Given the description of an element on the screen output the (x, y) to click on. 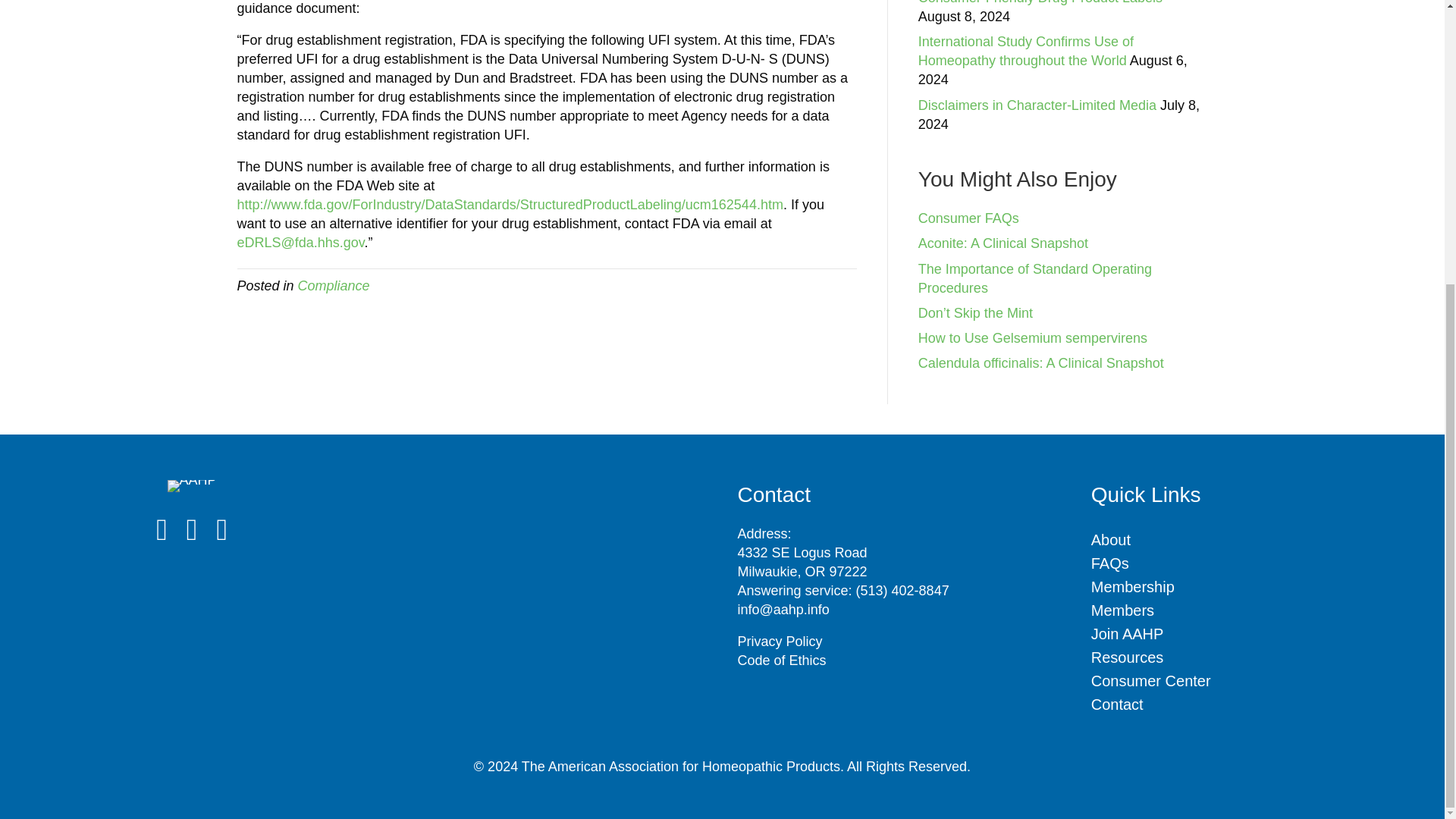
AAHP (191, 485)
Consumer FAQs (968, 218)
Aconite: A Clinical Snapshot (1002, 242)
Compliance (333, 285)
The Importance of Standard Operating Procedures (1034, 278)
Disclaimers in Character-Limited Media (1037, 105)
Consumer-Friendly Drug Product Labels (1039, 2)
